Given the description of an element on the screen output the (x, y) to click on. 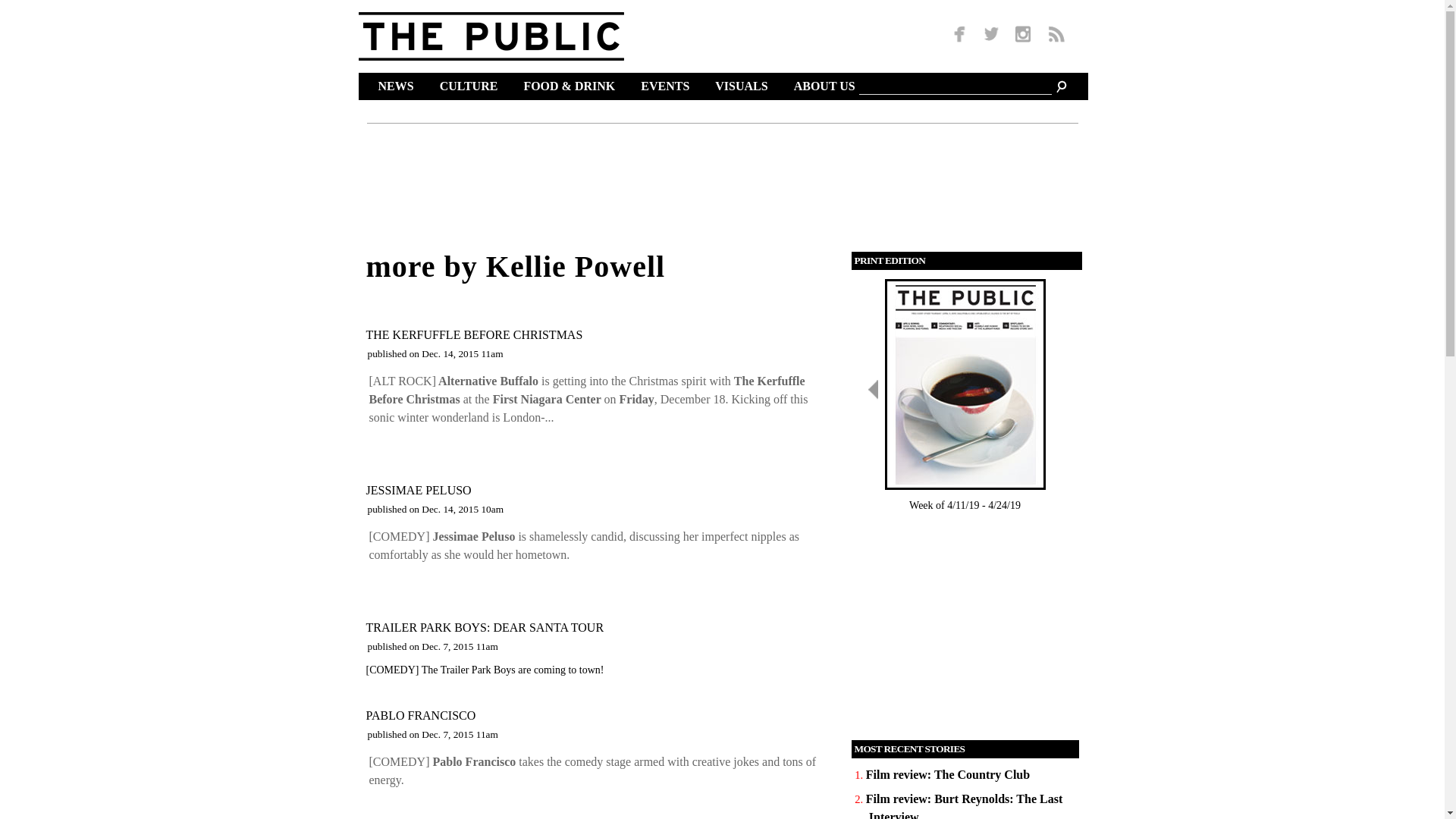
Skip to main content (691, 1)
The Public Homepage (490, 36)
ABOUT US (827, 88)
Culture (471, 88)
EVENTS (667, 88)
NEWS (398, 88)
Follow us on Instagram (1021, 34)
Follow us on Twitter (991, 34)
News (398, 88)
VISUALS (743, 88)
Subscribe to RSS (1052, 34)
CULTURE (471, 88)
The Public Homepage (509, 36)
Like us on Facebook (961, 34)
